Given the description of an element on the screen output the (x, y) to click on. 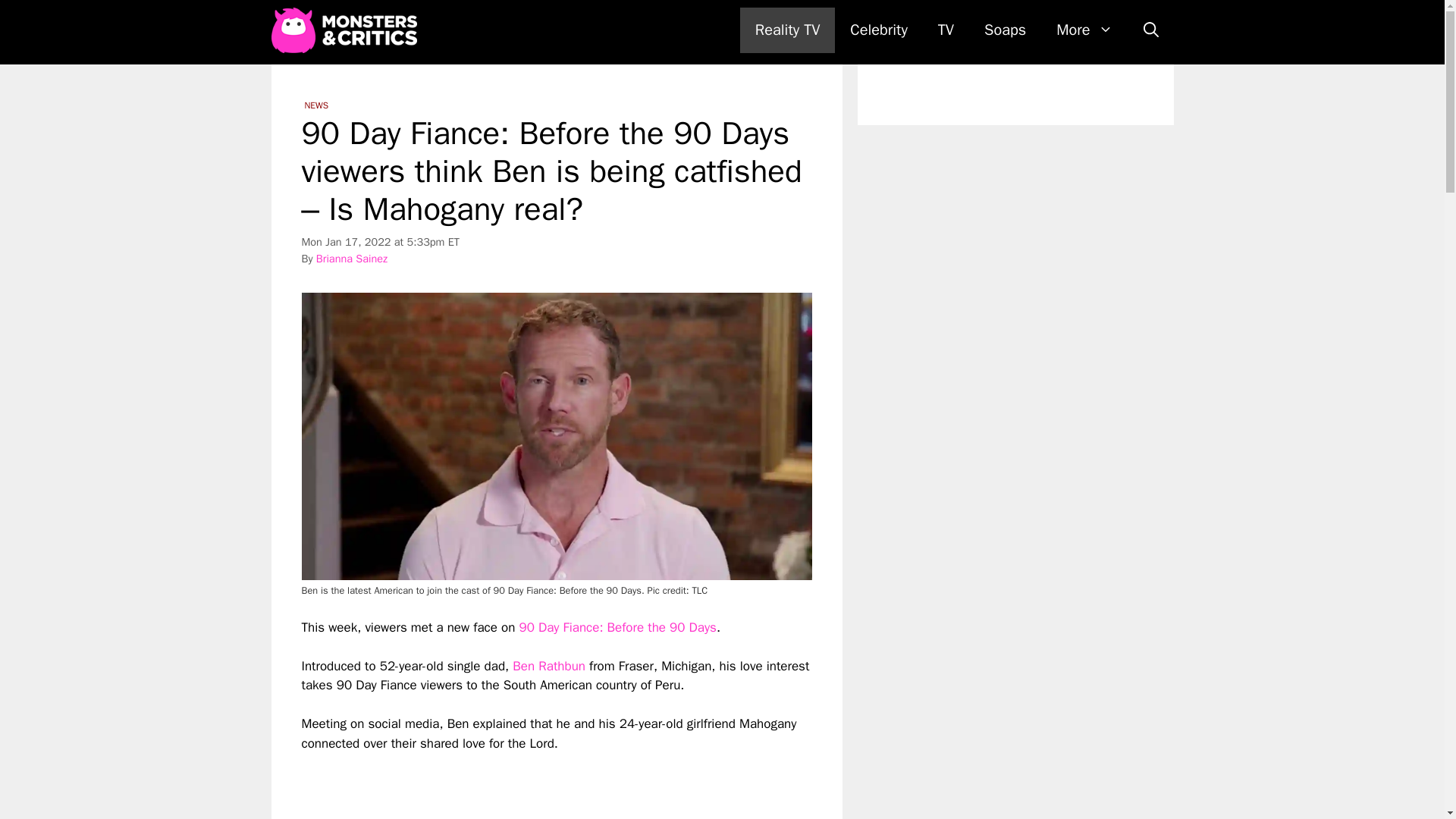
Monsters and Critics (343, 30)
View all posts by Brianna Sainez (351, 258)
More (1083, 30)
TV (946, 30)
Soaps (1005, 30)
Monsters and Critics (347, 30)
Brianna Sainez (351, 258)
Celebrity (877, 30)
YouTube video player (513, 785)
Ben Rathbun (548, 666)
